Given the description of an element on the screen output the (x, y) to click on. 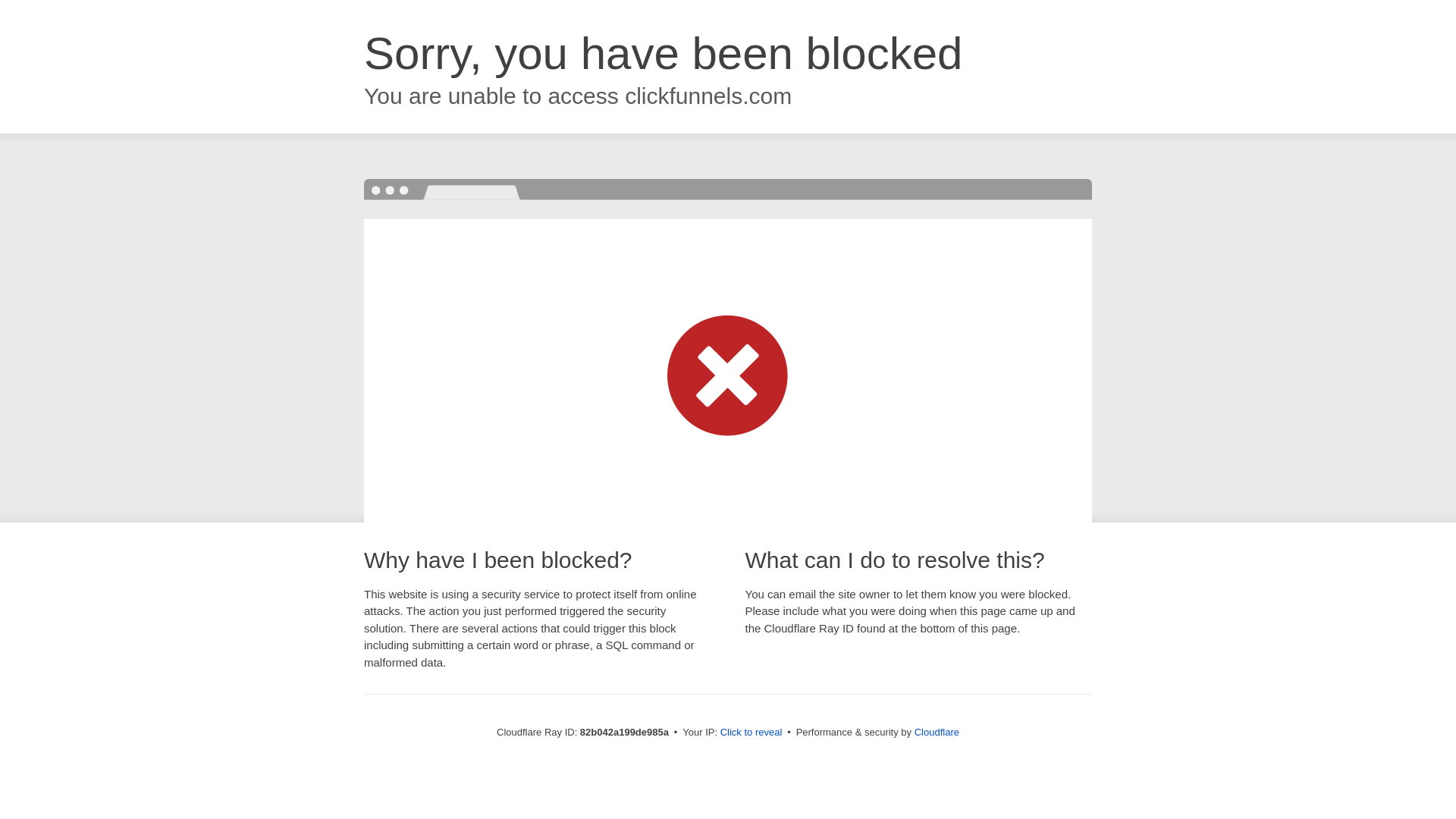
Cloudflare Element type: text (936, 731)
Click to reveal Element type: text (751, 732)
